Given the description of an element on the screen output the (x, y) to click on. 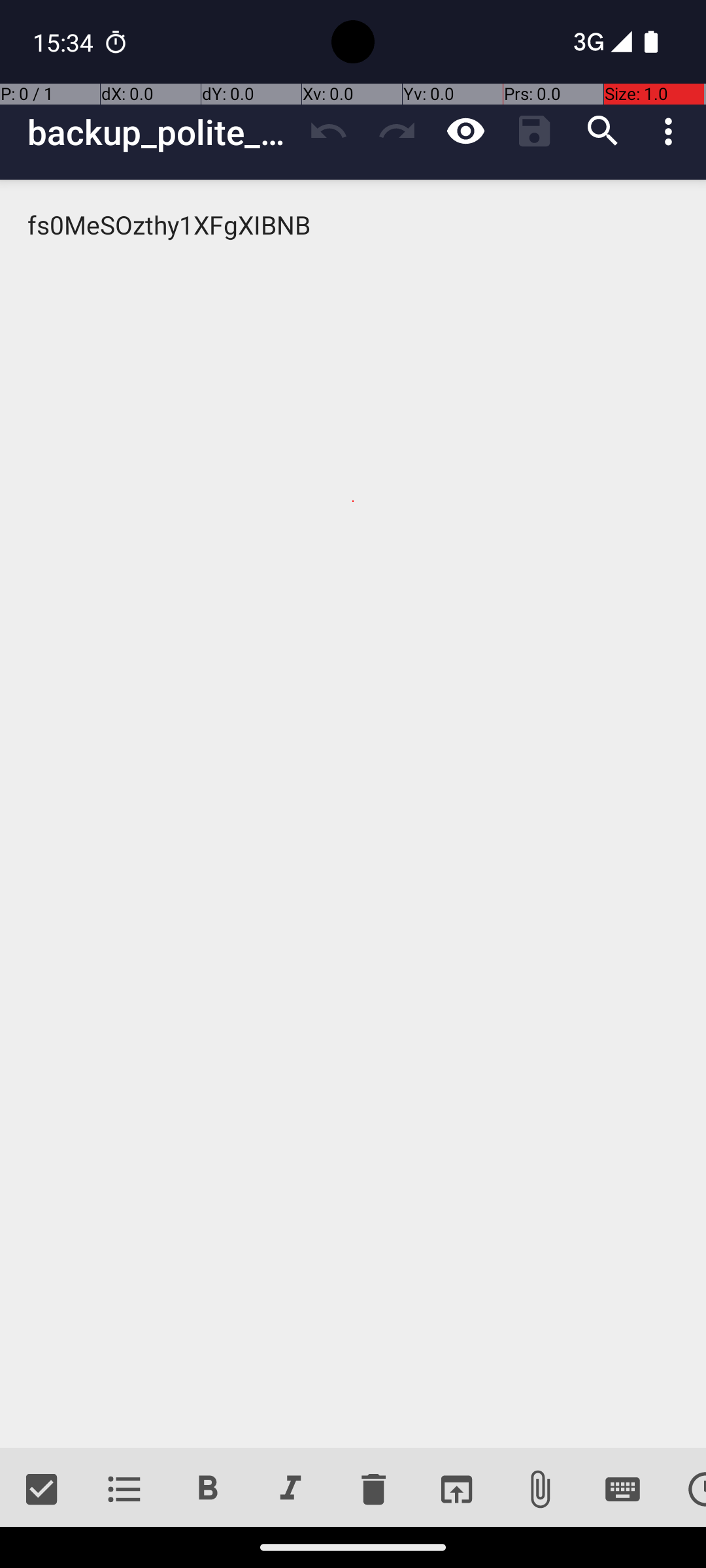
backup_polite_umbrella Element type: android.widget.TextView (160, 131)
fs0MeSOzthy1XFgXIBNB
 Element type: android.widget.EditText (353, 813)
